Given the description of an element on the screen output the (x, y) to click on. 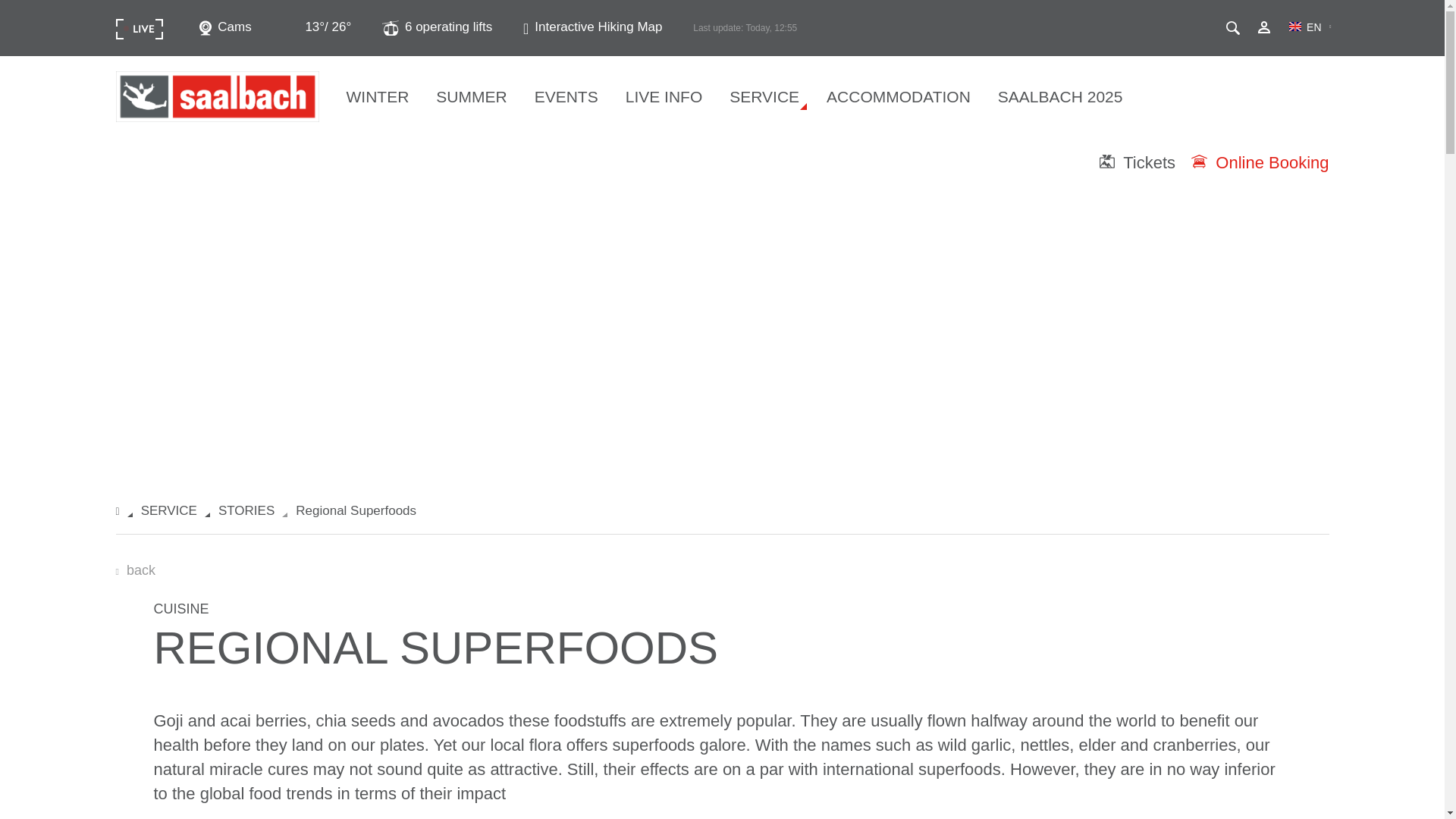
6 operating lifts (436, 27)
Interactive Hiking Map (592, 27)
SUMMER (470, 104)
change language (1304, 27)
EN (1304, 27)
WINTER (376, 104)
Cams (224, 27)
